Given the description of an element on the screen output the (x, y) to click on. 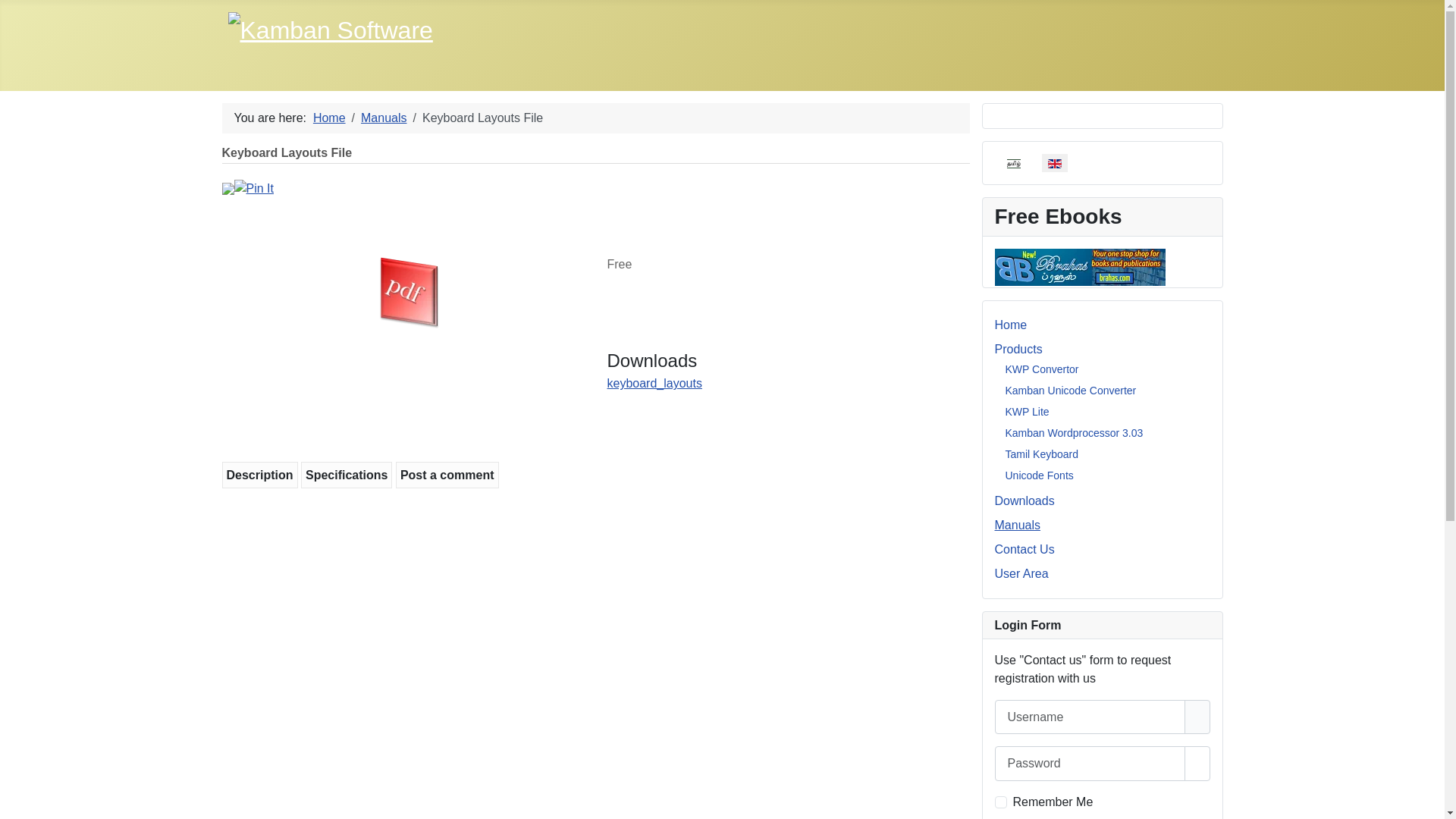
Your Free Ebooks Element type: hover (1079, 265)
KWP Lite Element type: text (1027, 410)
Tamil Keyboard Element type: text (1042, 453)
Home Element type: text (1010, 324)
Kamban Unicode Converter Element type: text (1070, 389)
Products Element type: text (1018, 348)
Username Element type: hover (1197, 716)
English Element type: hover (1054, 163)
Keyboard Layouts File Element type: hover (408, 291)
Contact Us Element type: text (1024, 548)
Show Password Element type: text (1197, 763)
Kamban Wordprocessor 3.03 Element type: text (1074, 432)
User Area Element type: text (1021, 573)
Downloads Element type: text (1024, 500)
KWP Convertor Element type: text (1042, 368)
Home Element type: text (329, 117)
Unicode Fonts Element type: text (1039, 474)
keyboard_layouts Element type: text (653, 382)
Pin It Element type: hover (253, 188)
Manuals Element type: text (1017, 524)
Keyboard Layouts File Element type: hover (408, 293)
Manuals Element type: text (383, 117)
